Given the description of an element on the screen output the (x, y) to click on. 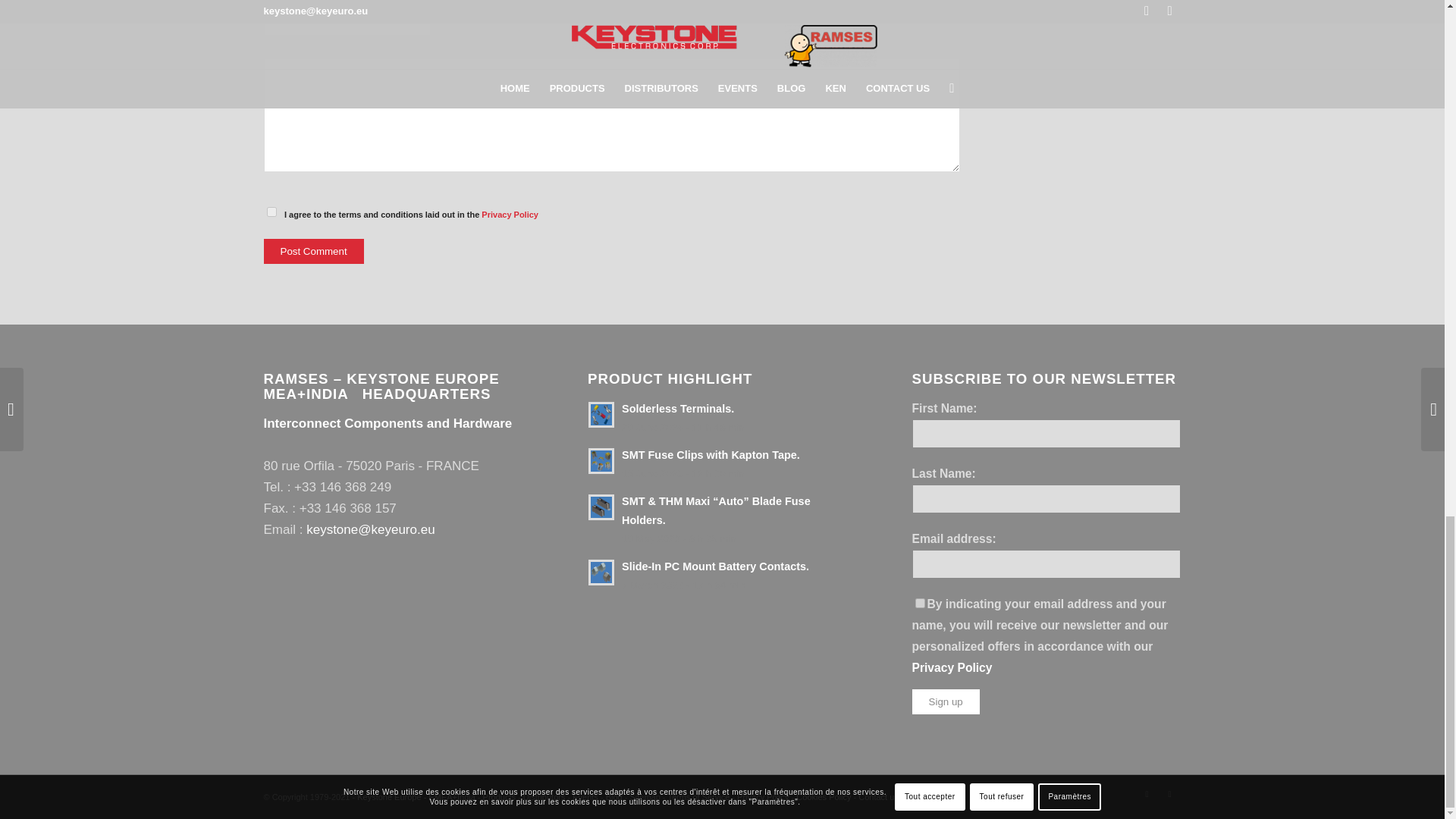
1 (919, 603)
Post Comment (313, 251)
Sign up (945, 701)
yes (271, 212)
